Given the description of an element on the screen output the (x, y) to click on. 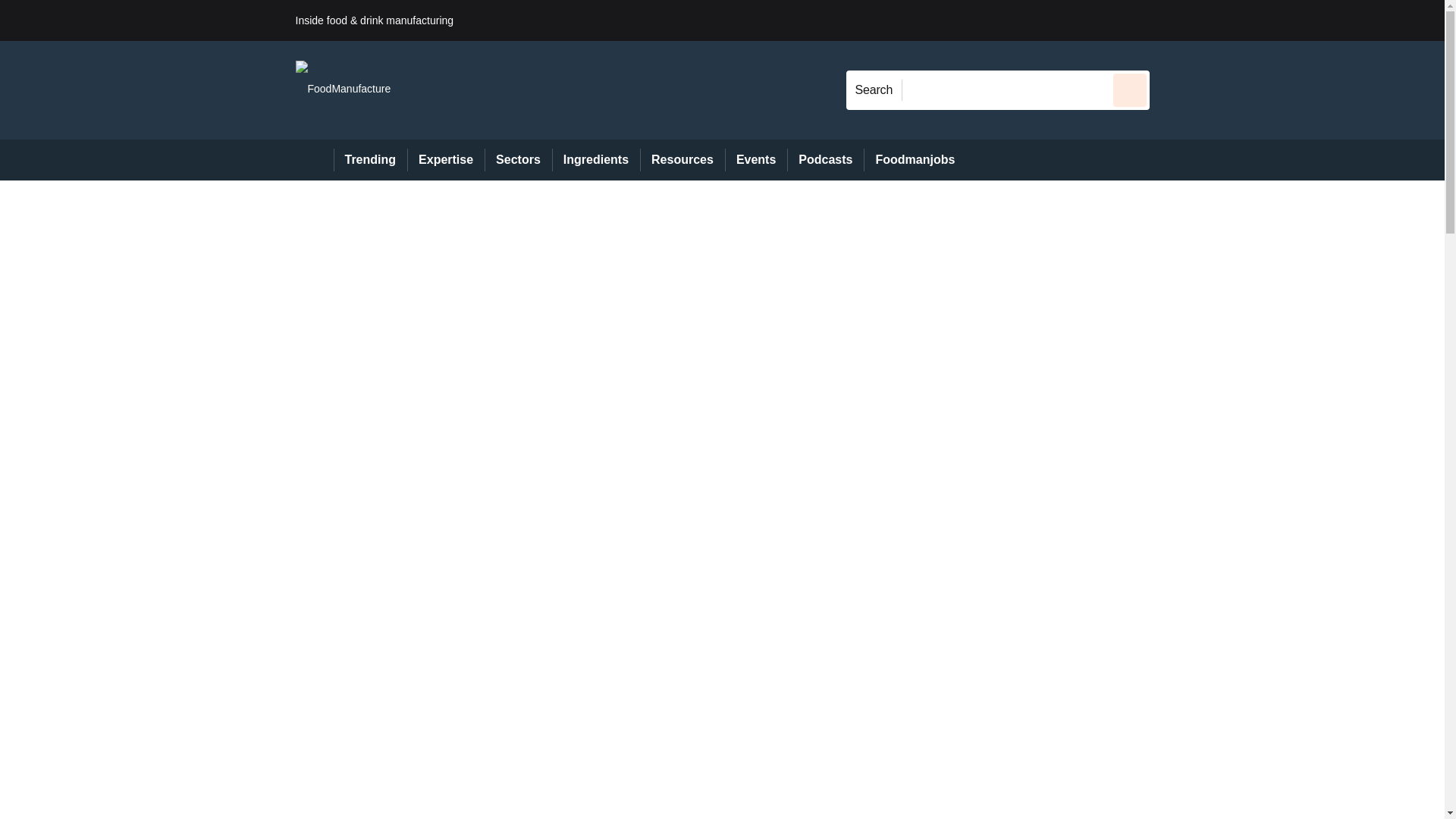
Send (1129, 89)
My account (1256, 20)
FoodManufacture (343, 89)
Home (314, 159)
Trending (370, 159)
Sign out (1174, 20)
REGISTER (1250, 20)
Expertise (445, 159)
Send (1129, 90)
Sign in (1171, 20)
